Given the description of an element on the screen output the (x, y) to click on. 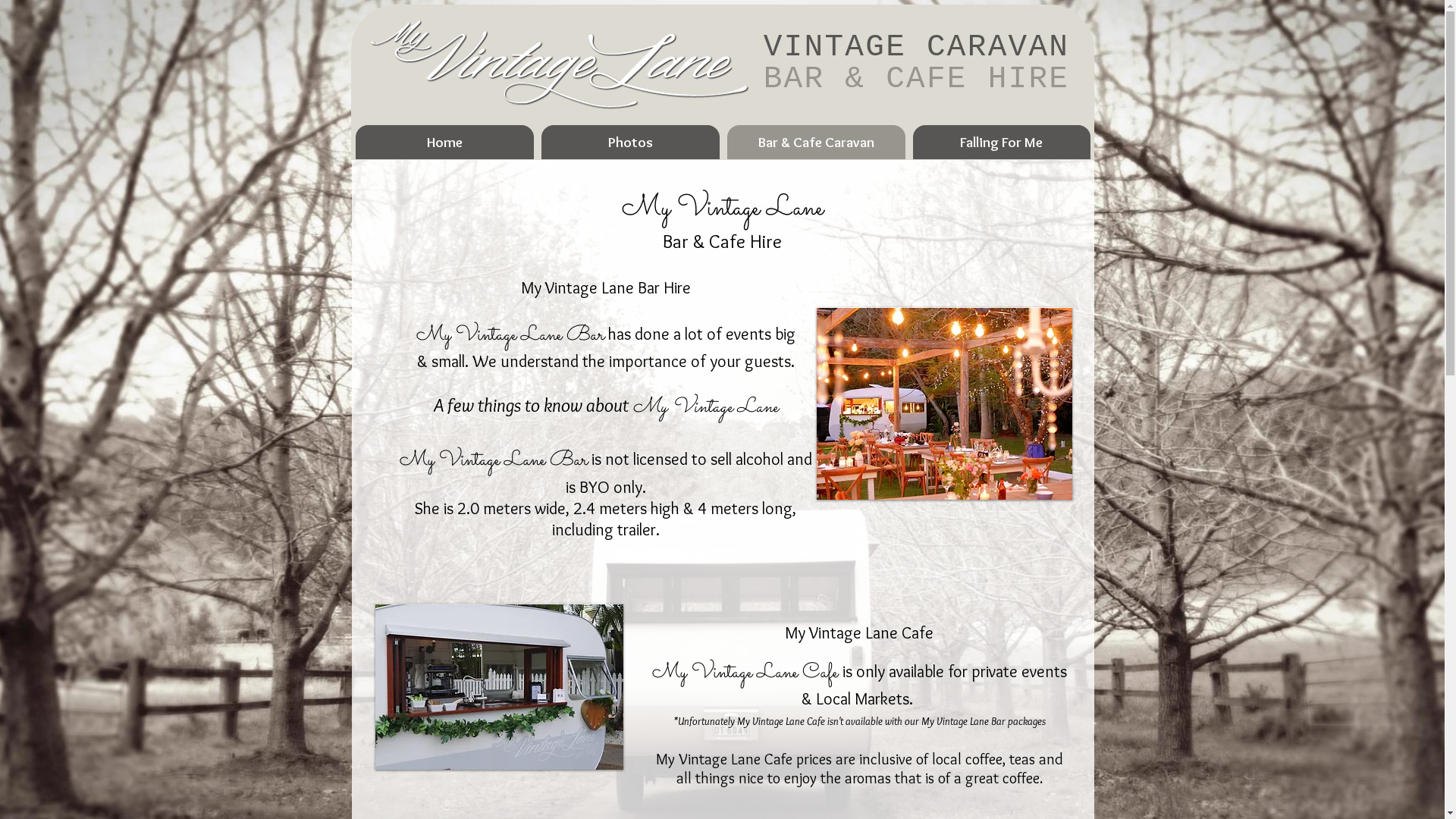
Pin to Pinterest Element type: hover (604, 645)
Photos Element type: text (630, 142)
Bar & Cafe Caravan Element type: text (815, 142)
my vintage lane caravan bar .jpg Element type: hover (943, 403)
Home Element type: text (443, 142)
myvintagelanecafe02.jpg Element type: hover (498, 686)
Falling For Me Element type: text (1001, 142)
Pin to Pinterest Element type: hover (1054, 320)
